Given the description of an element on the screen output the (x, y) to click on. 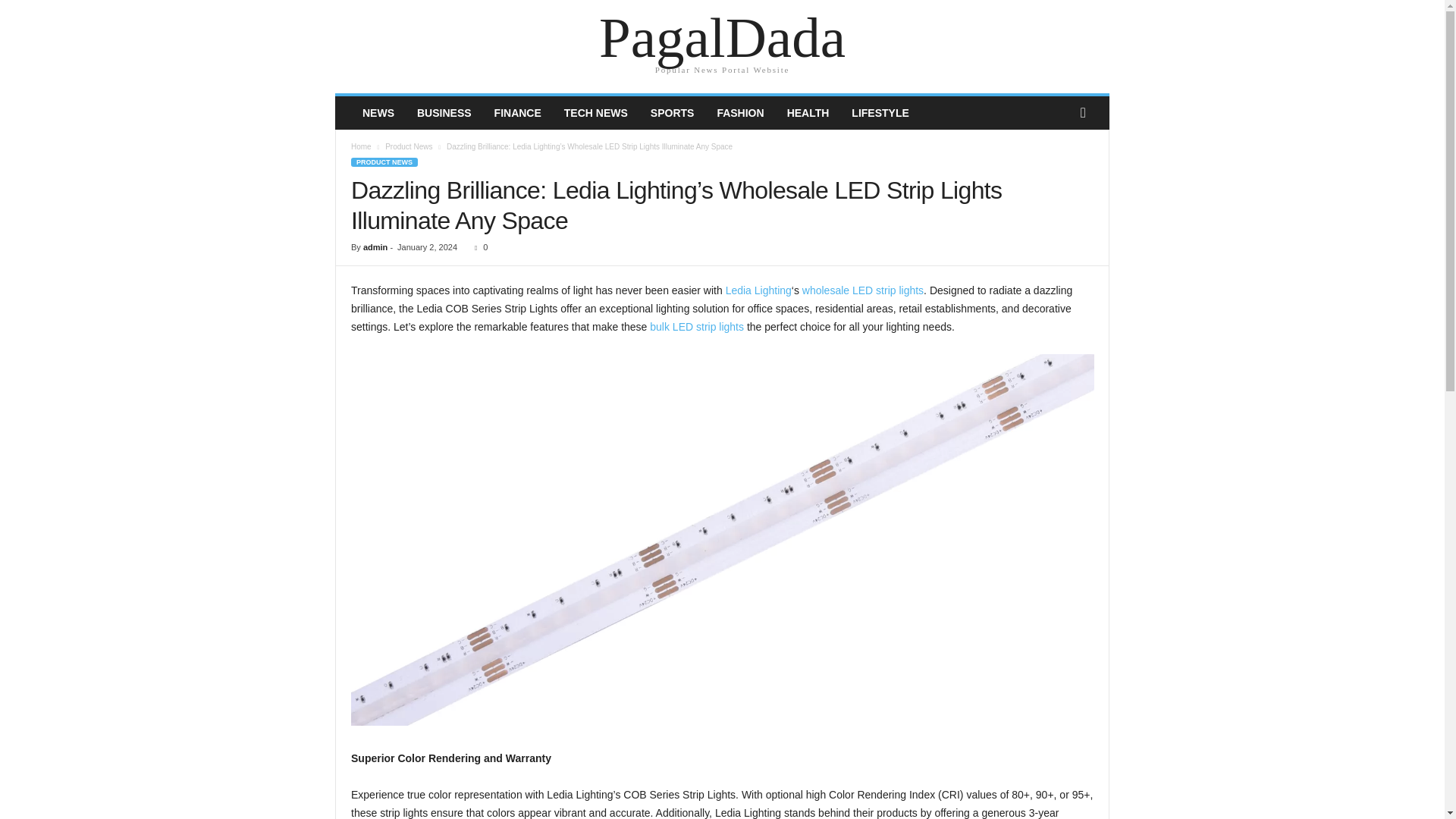
TECH NEWS (596, 112)
BUSINESS (444, 112)
LIFESTYLE (880, 112)
HEALTH (808, 112)
PagalDada (721, 38)
Home (360, 146)
NEWS (378, 112)
FINANCE (518, 112)
bulk LED strip lights (696, 326)
SPORTS (672, 112)
